Given the description of an element on the screen output the (x, y) to click on. 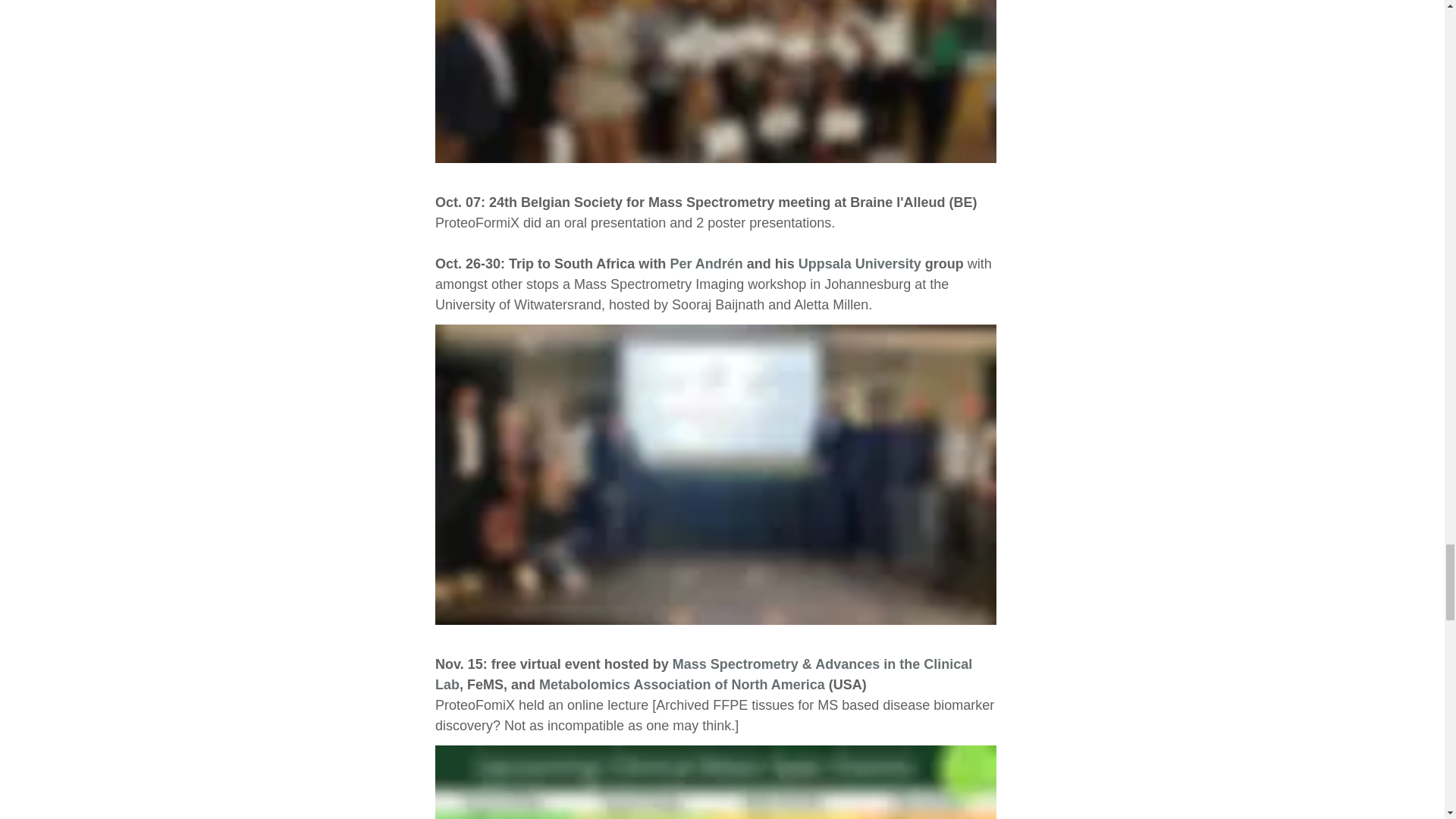
Uppsala University (858, 263)
Metabolomics Association of North America (681, 684)
